Given the description of an element on the screen output the (x, y) to click on. 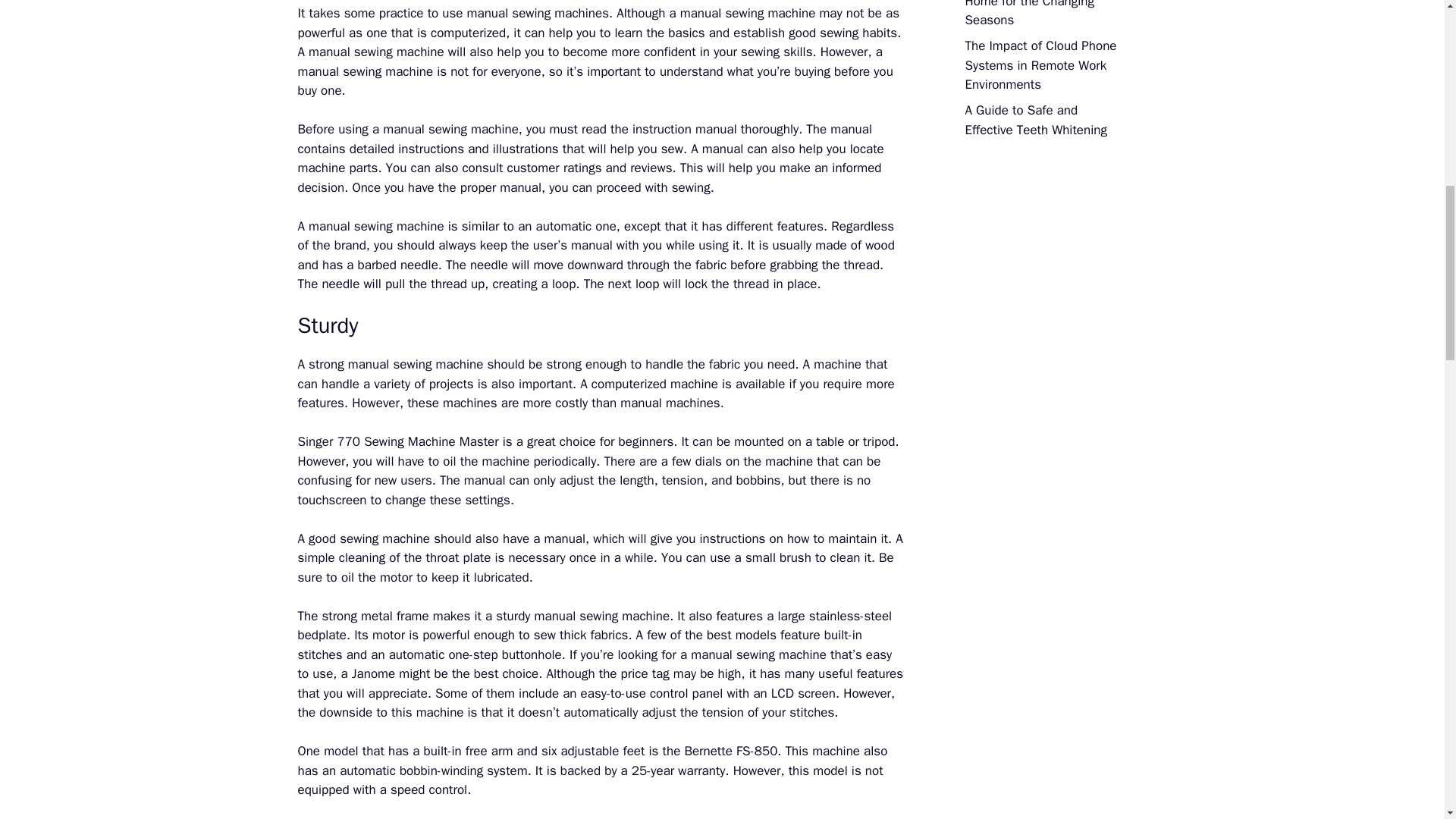
Sewing Machine Master (433, 441)
A Guide to Safe and Effective Teeth Whitening (1034, 120)
Tips for Setting up Your Home for the Changing Seasons (1030, 13)
Scroll back to top (1406, 720)
